Given the description of an element on the screen output the (x, y) to click on. 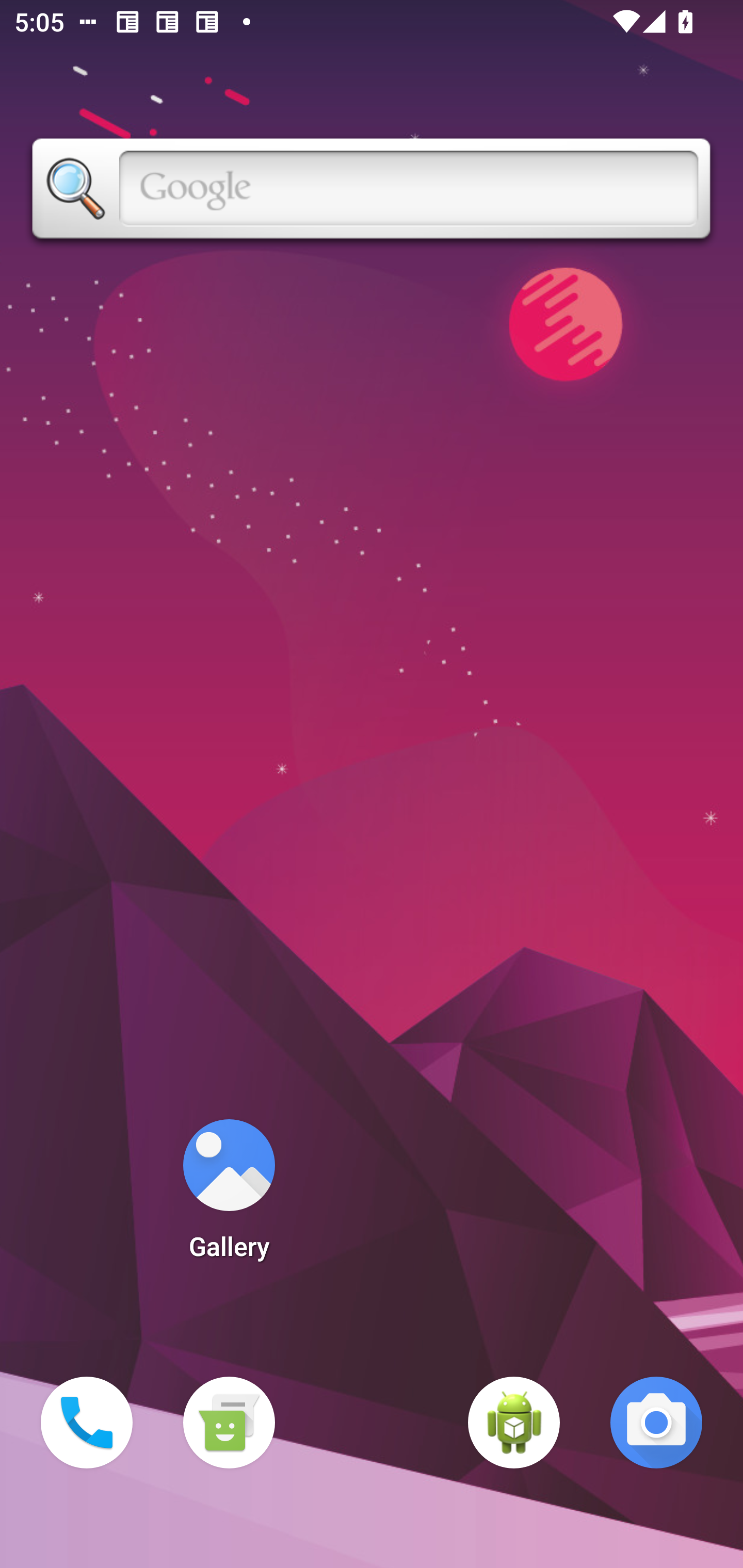
Gallery (228, 1195)
Phone (86, 1422)
Messaging (228, 1422)
WebView Browser Tester (513, 1422)
Camera (656, 1422)
